Given the description of an element on the screen output the (x, y) to click on. 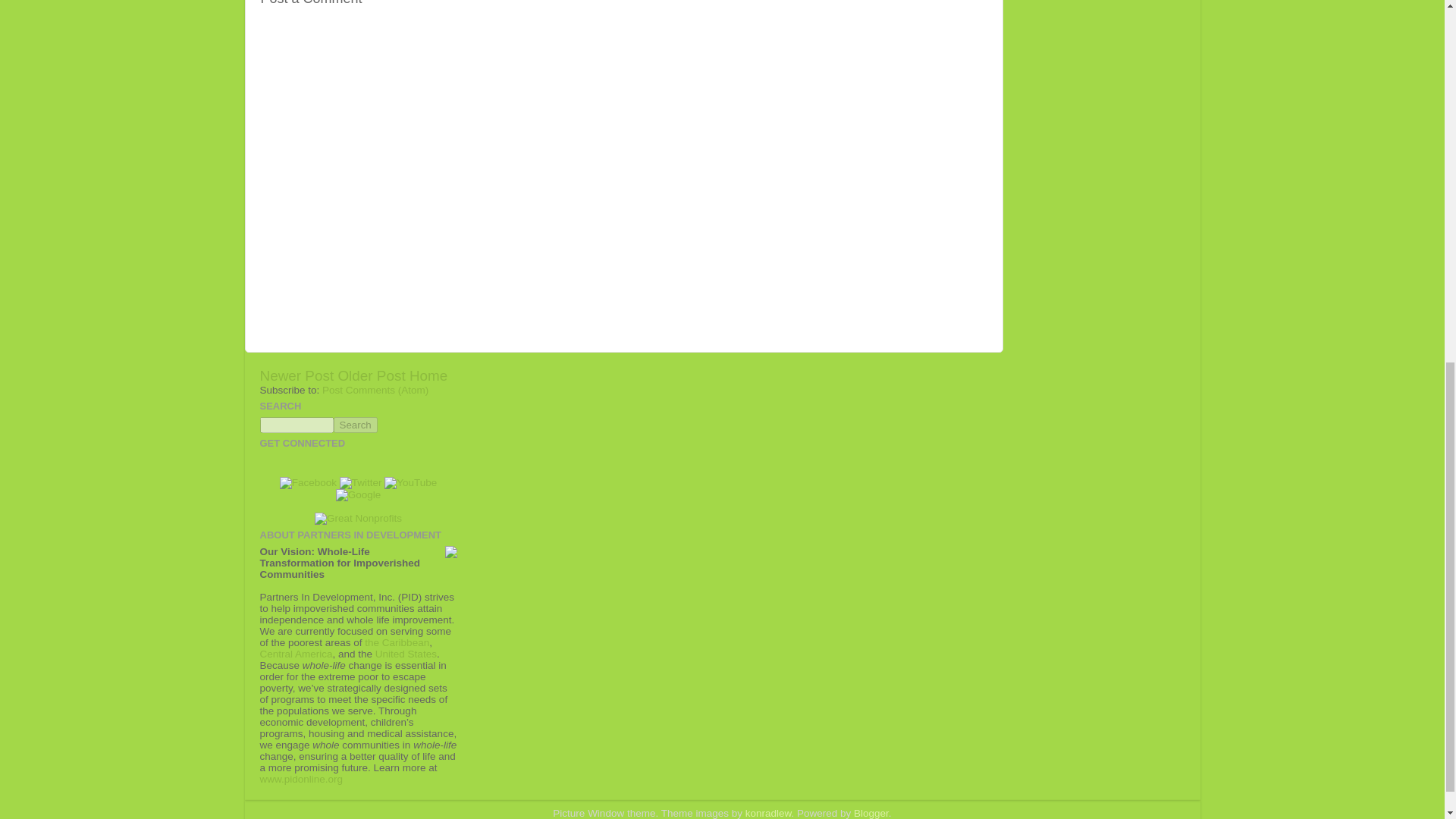
Newer Post (296, 375)
Older Post (370, 375)
Search (355, 424)
search (296, 424)
www.pidonline.org (300, 778)
search (355, 424)
Newer Post (296, 375)
Central America (295, 654)
Home (427, 375)
the Caribbean (397, 642)
Search (355, 424)
United States (405, 654)
Search (355, 424)
Older Post (370, 375)
